Given the description of an element on the screen output the (x, y) to click on. 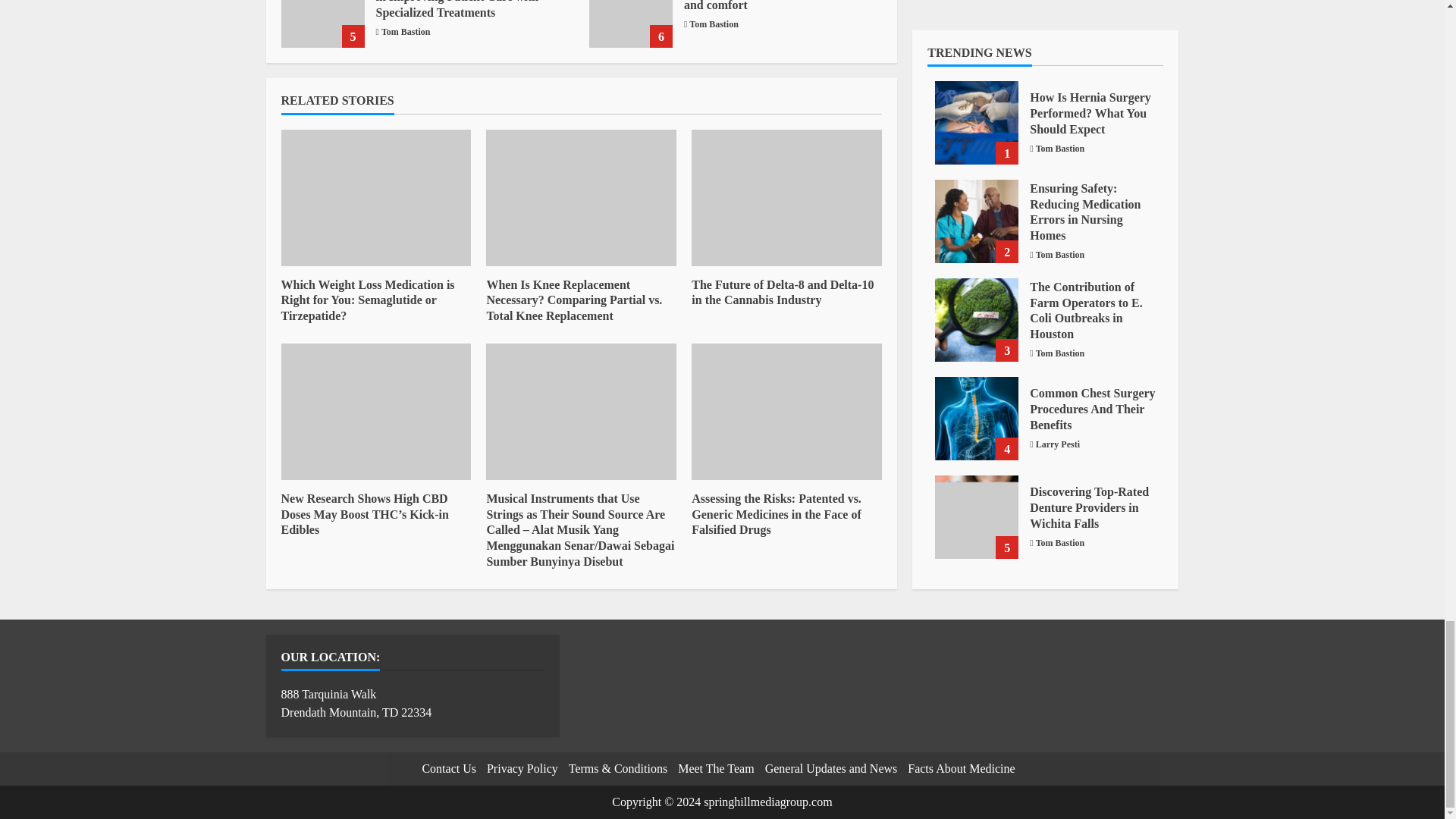
Tom Bastion (405, 31)
